Given the description of an element on the screen output the (x, y) to click on. 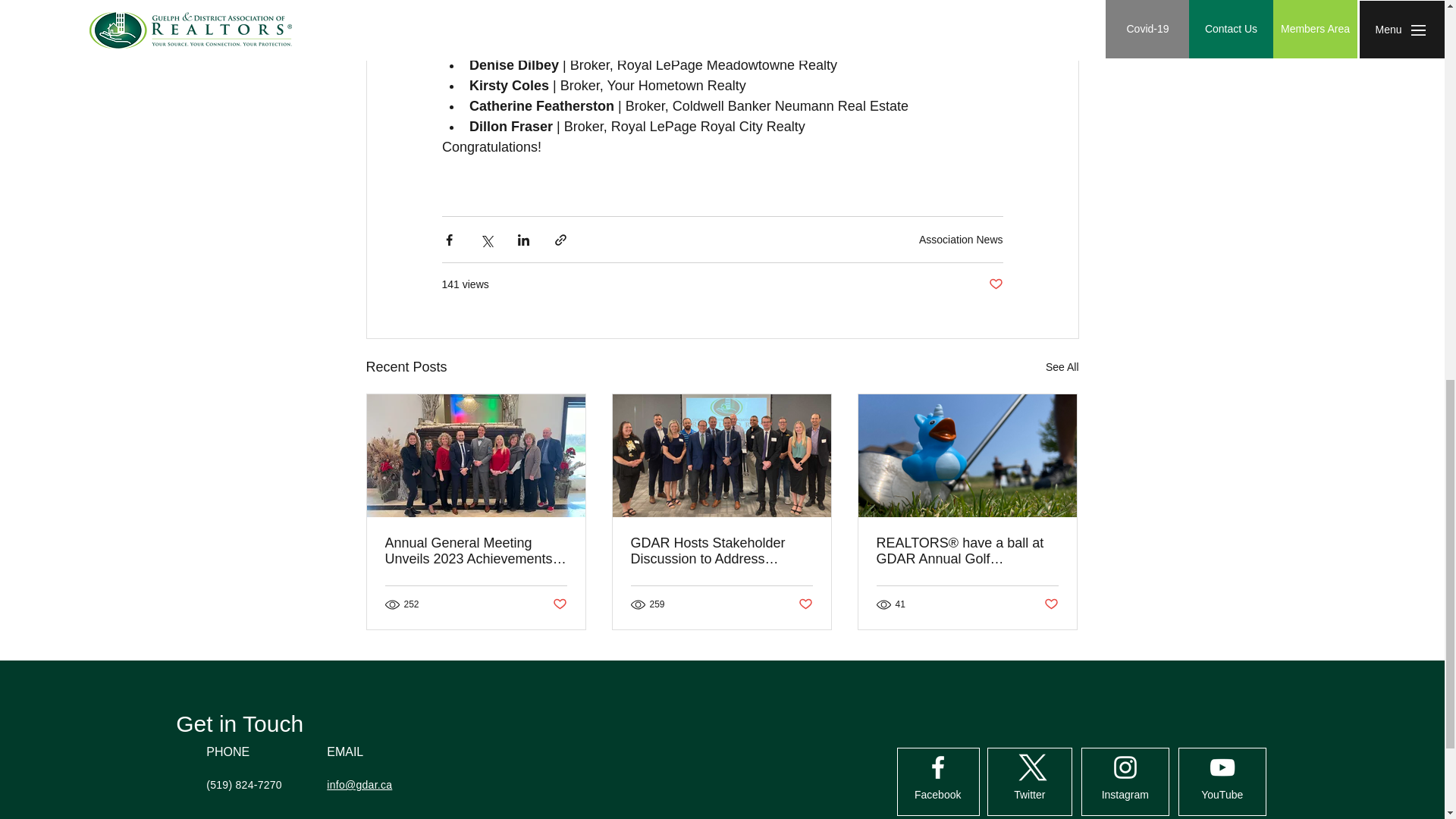
Post not marked as liked (804, 603)
YouTube (1222, 795)
Facebook (938, 795)
Post not marked as liked (995, 284)
Twitter (1029, 795)
GDAR Hosts Stakeholder Discussion to Address Housing Crisis (721, 551)
Post not marked as liked (1050, 603)
Post not marked as liked (558, 603)
Association News (960, 239)
